Given the description of an element on the screen output the (x, y) to click on. 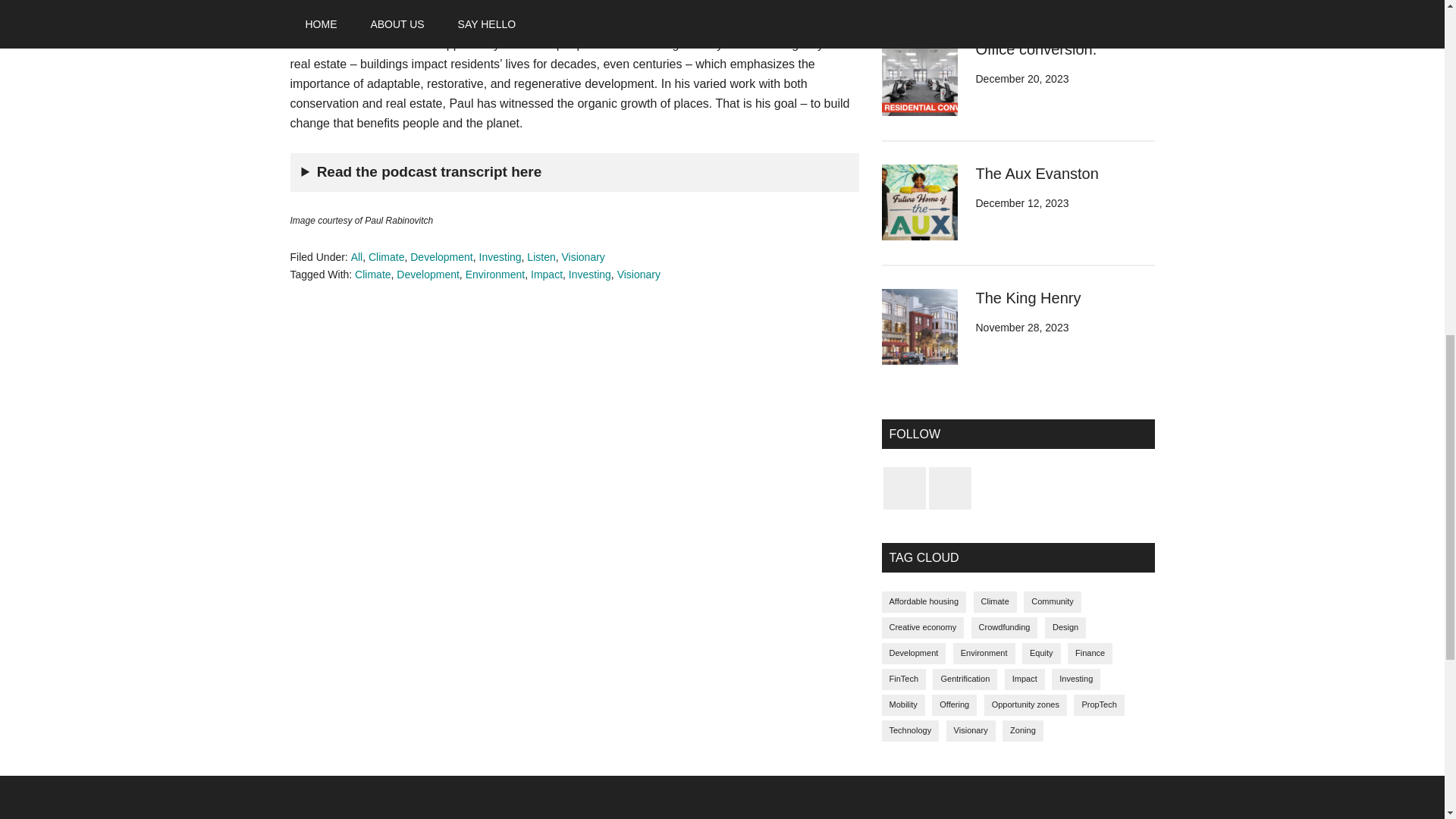
Visionary (582, 256)
Development (441, 256)
Climate (386, 256)
Investing (590, 274)
Listen (540, 256)
Development (428, 274)
Investing (500, 256)
All (356, 256)
Environment (495, 274)
Impact (546, 274)
Visionary (639, 274)
Climate (372, 274)
